Given the description of an element on the screen output the (x, y) to click on. 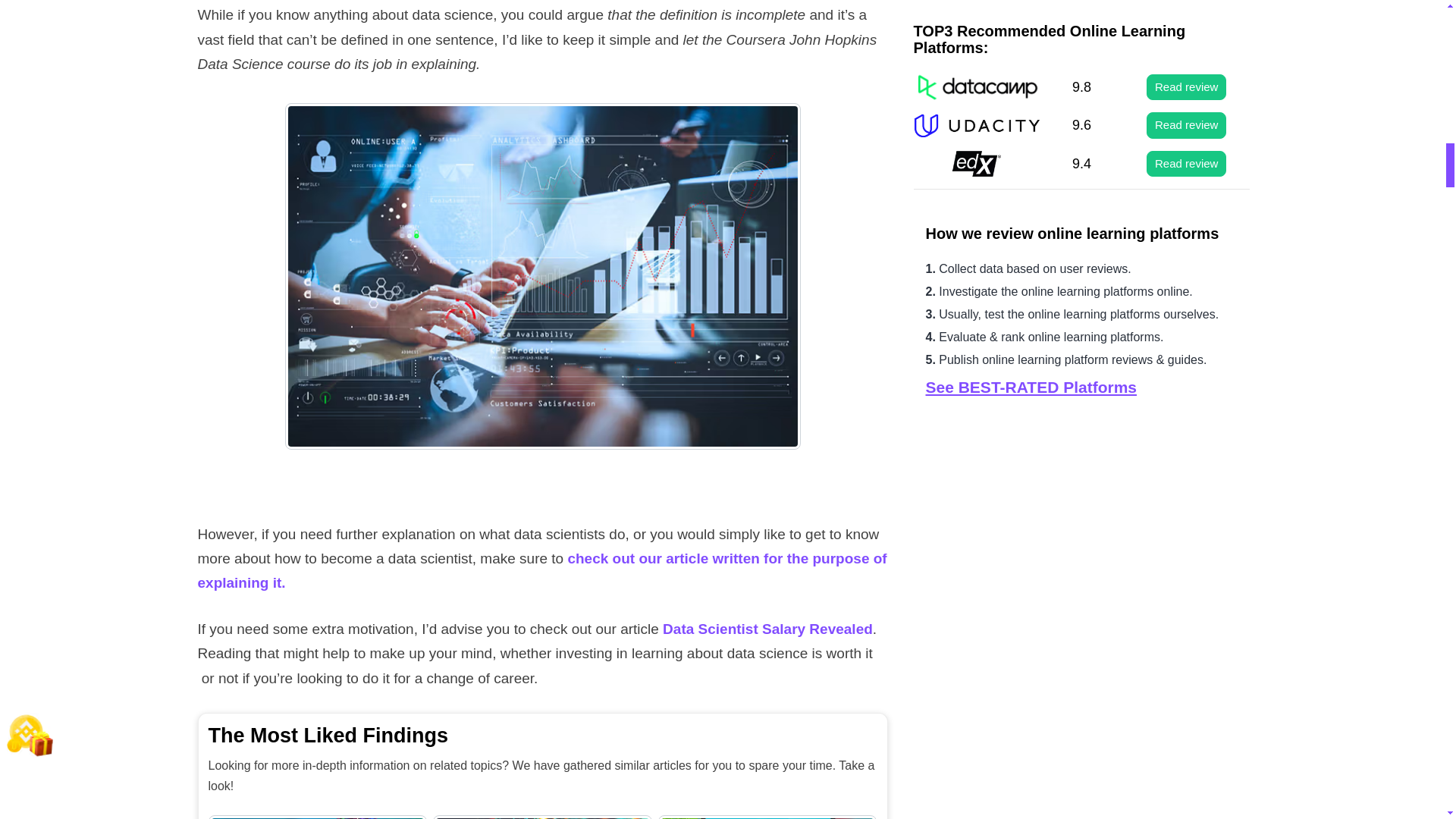
Data Scientist Salary Revealed (767, 628)
MIT Data Science Certificate 2024: Should I Pursue It? (542, 816)
Online Chemistry Courses: Bonding with Science (317, 816)
